Given the description of an element on the screen output the (x, y) to click on. 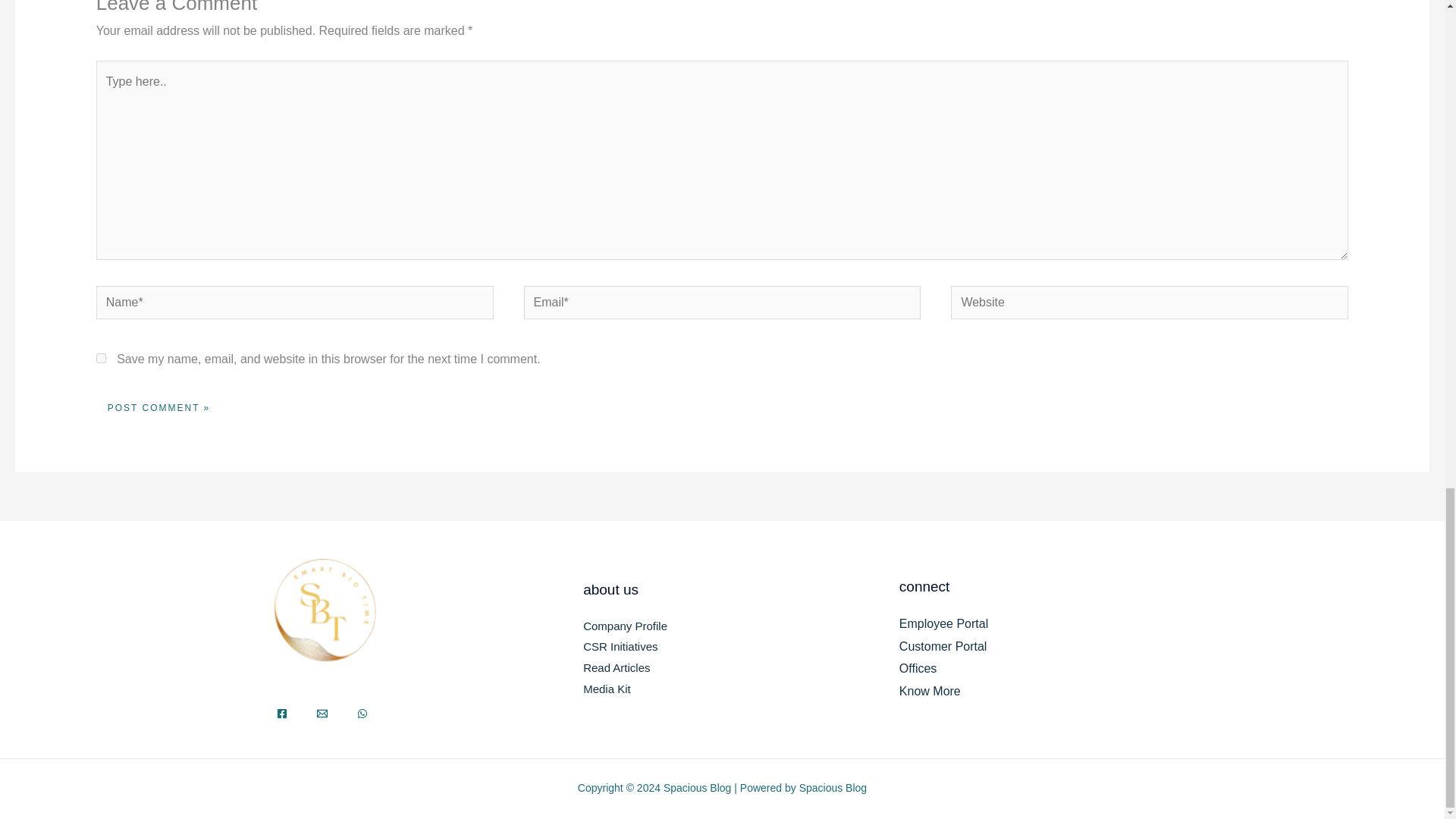
Employee Portal (943, 623)
Media Kit (606, 688)
Read Articles (616, 667)
yes (101, 357)
Company Profile (624, 625)
Know More (929, 690)
CSR Initiatives (620, 645)
Offices (918, 667)
Customer Portal (943, 645)
